Given the description of an element on the screen output the (x, y) to click on. 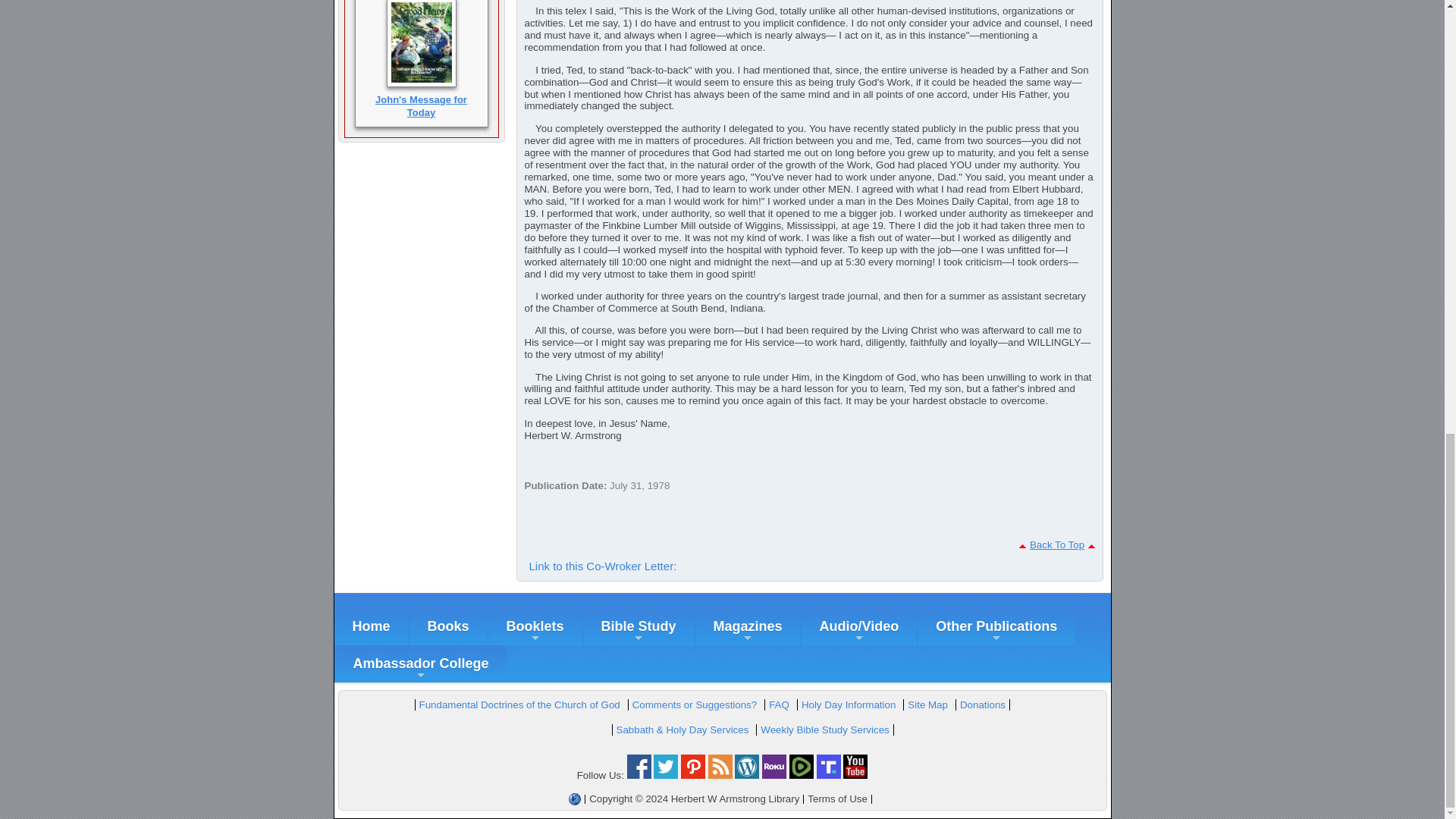
HWALibrary - Twitter (665, 775)
HWALibrary - Facebook (638, 775)
Click here to link to this Co-Wroker Letter. (602, 565)
Worldwide Church of God (574, 799)
HWALibrary - RSS Feed (719, 775)
HWALibrary - Pinterest (692, 775)
Link to this Co-Wroker Letter: (602, 565)
HWALibrary - Wordpress (746, 775)
HWALibrary - Roku TV (773, 775)
